Given the description of an element on the screen output the (x, y) to click on. 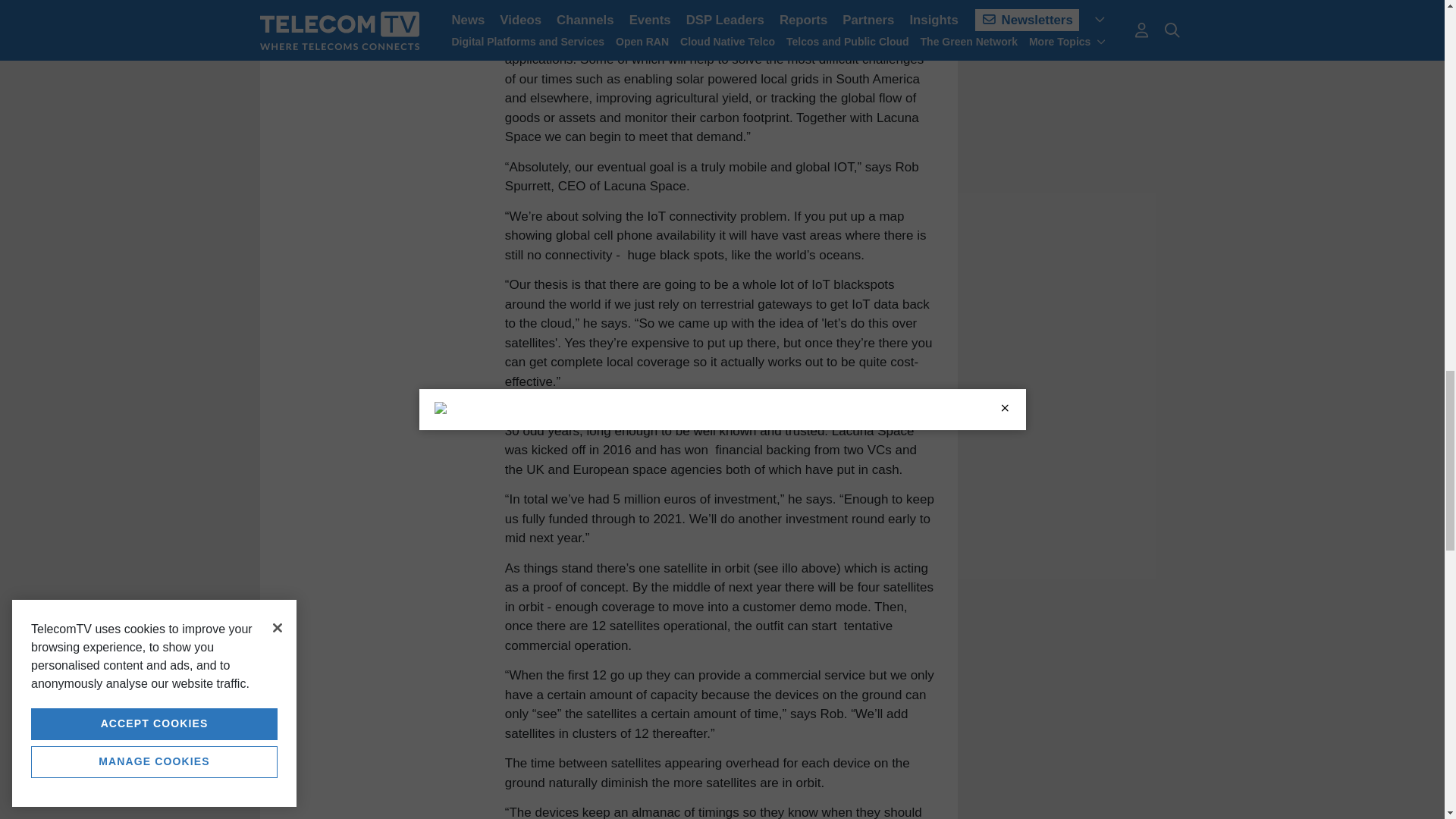
3rd party ad content (1082, 29)
